Given the description of an element on the screen output the (x, y) to click on. 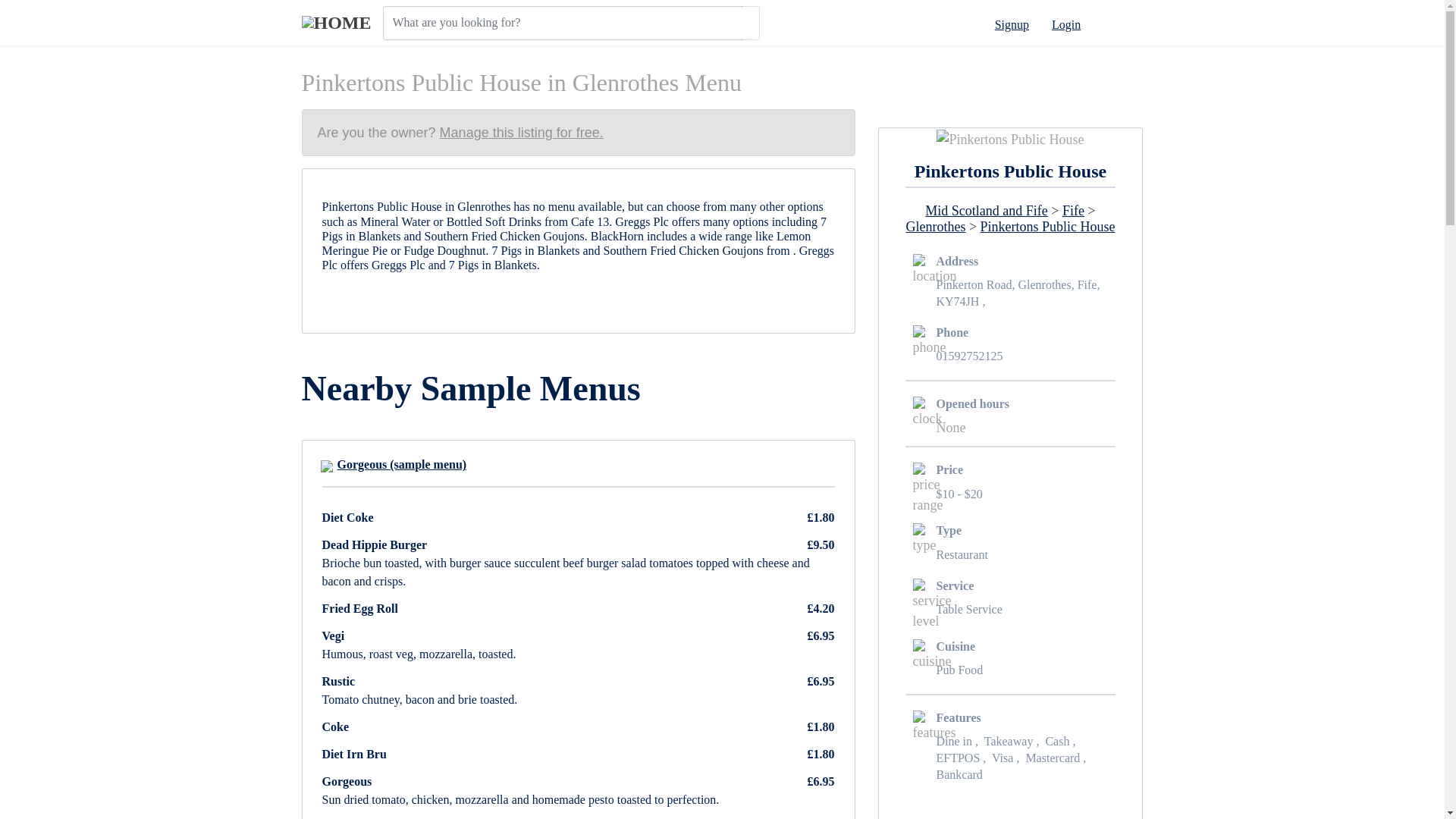
Pinkertons Public House (1047, 226)
Mid Scotland and Fife (985, 210)
Signup (1011, 24)
Glenrothes (935, 226)
Manage this listing for free. (521, 132)
Login (1065, 24)
Fife (1073, 210)
